Given the description of an element on the screen output the (x, y) to click on. 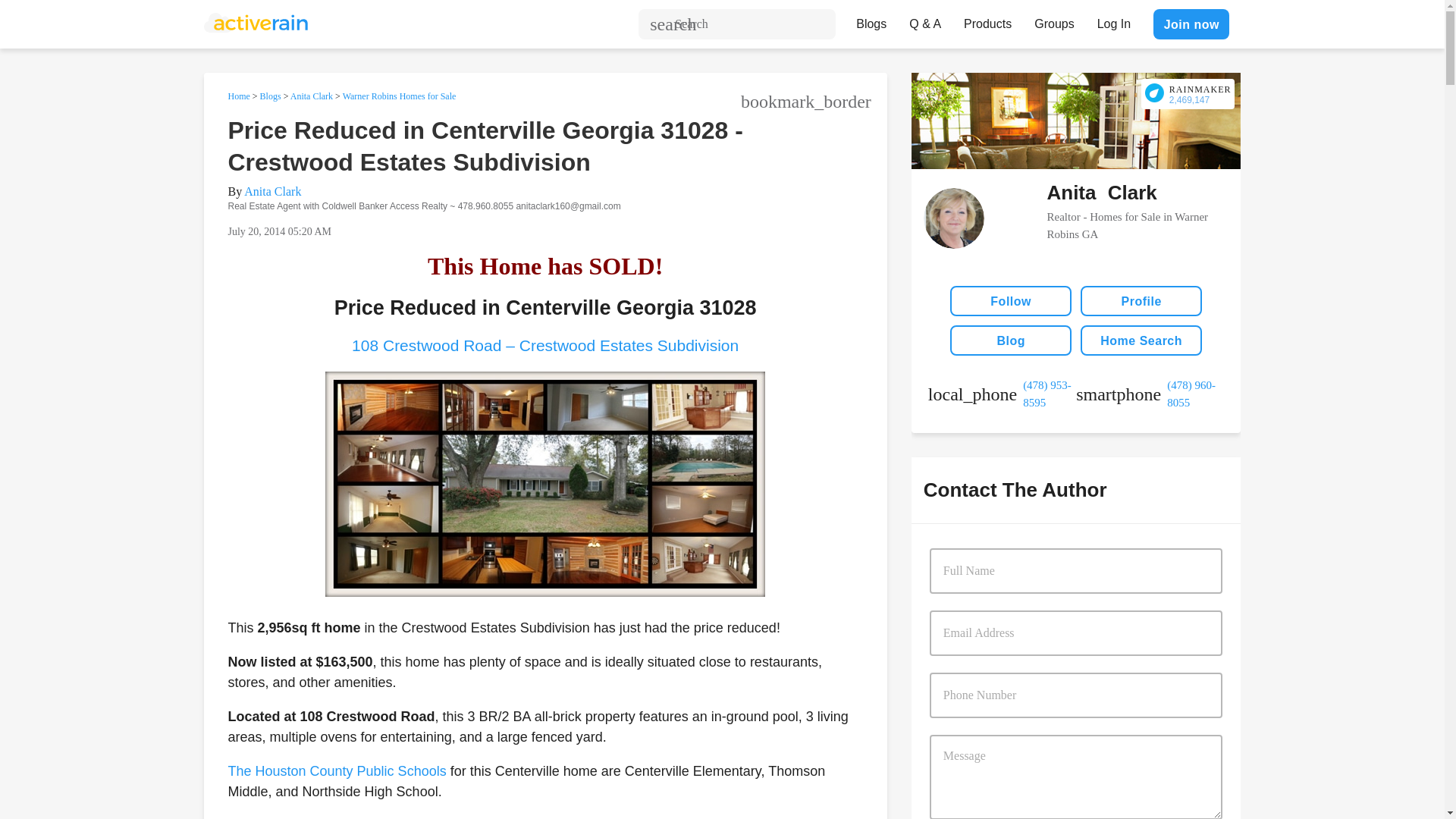
Log In (1113, 19)
Home (237, 95)
Products (986, 19)
The Houston County Public Schools (336, 770)
108 Crestwood Road - Crestwood Estates Subdivision (545, 344)
Anita Clark (311, 95)
Groups (1053, 19)
Warner Robins Homes for Sale (399, 95)
Join now (1190, 24)
